Given the description of an element on the screen output the (x, y) to click on. 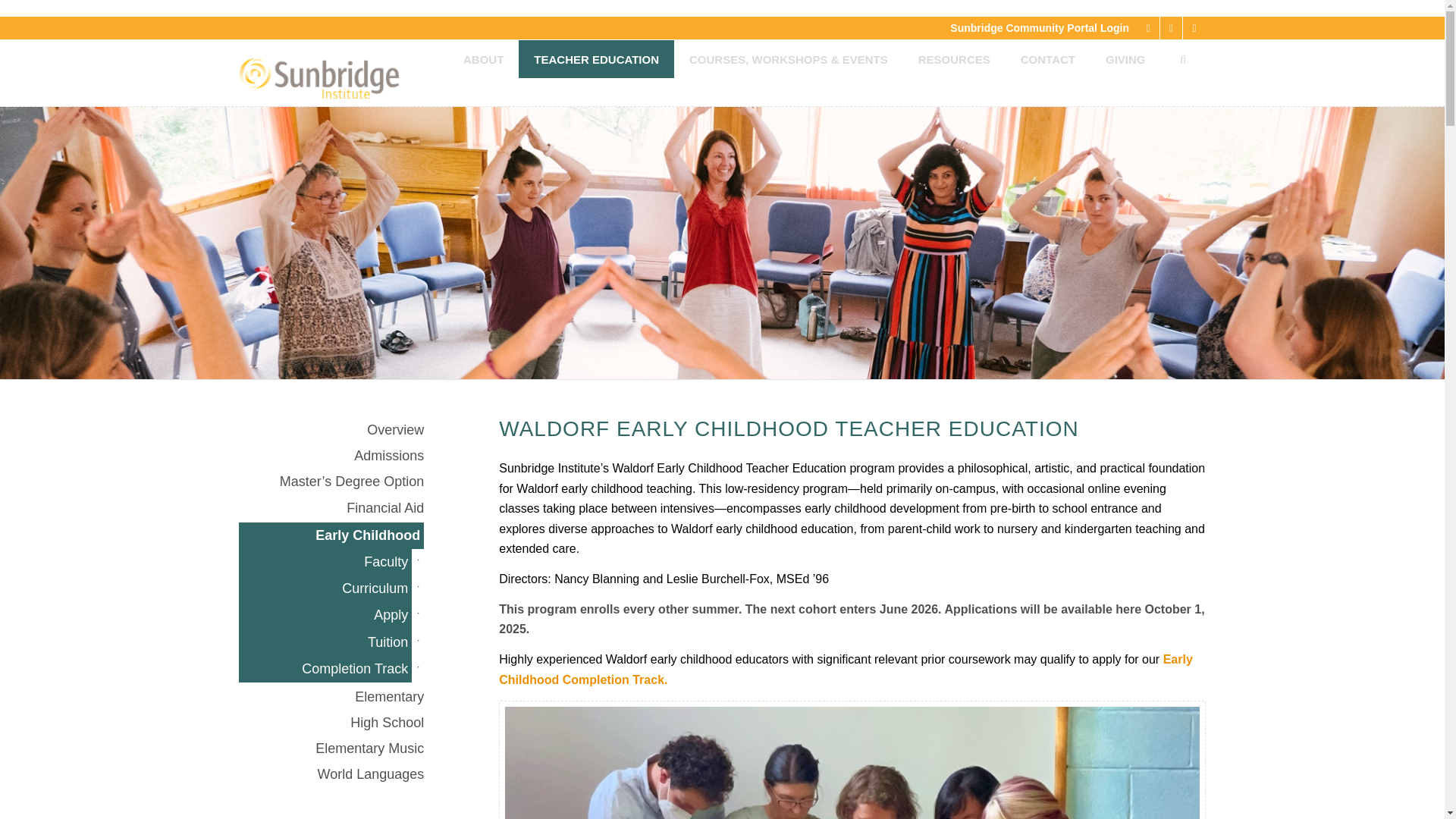
TEACHER EDUCATION (596, 58)
RESOURCES (954, 58)
ABOUT (483, 58)
Sunbridge Community Portal Login (1039, 28)
